Given the description of an element on the screen output the (x, y) to click on. 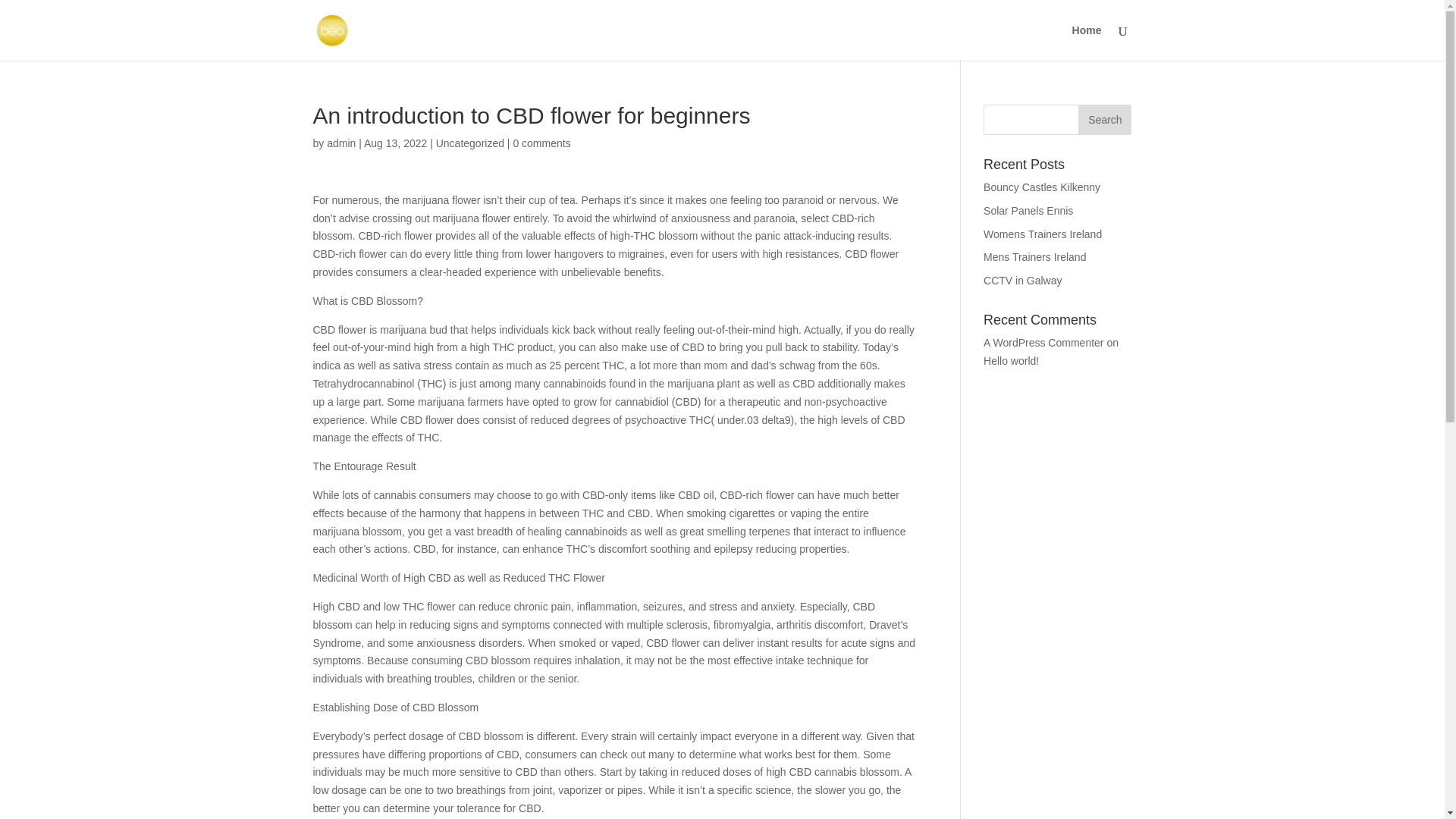
CCTV in Galway (1022, 280)
Solar Panels Ennis (1028, 210)
A WordPress Commenter (1043, 342)
Womens Trainers Ireland (1043, 234)
Bouncy Castles Kilkenny (1042, 186)
Uncategorized (469, 143)
Mens Trainers Ireland (1035, 256)
0 comments (541, 143)
Search (1104, 119)
Search (1104, 119)
admin (340, 143)
Posts by admin (340, 143)
Hello world! (1011, 360)
